Given the description of an element on the screen output the (x, y) to click on. 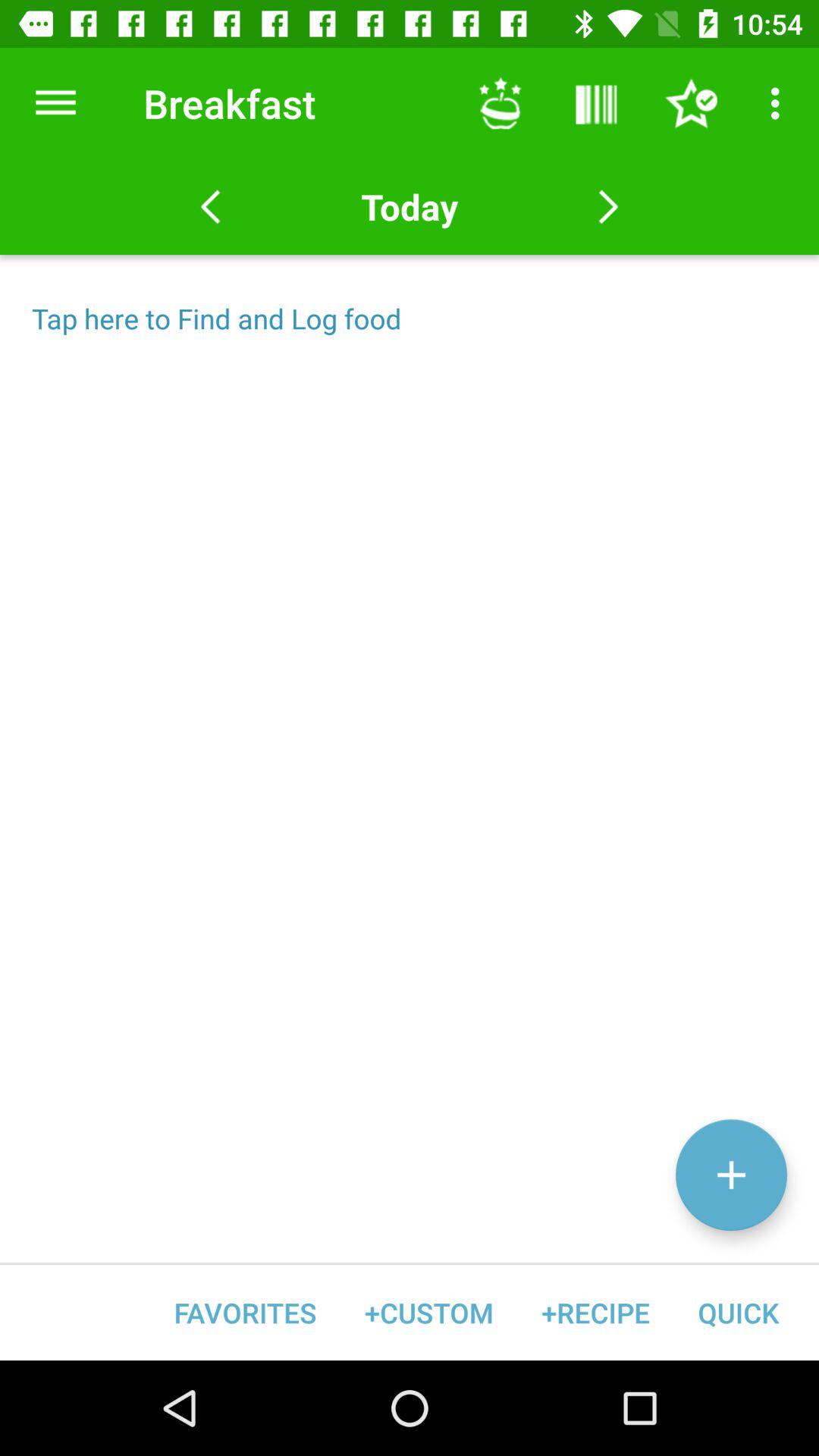
next day (608, 206)
